Given the description of an element on the screen output the (x, y) to click on. 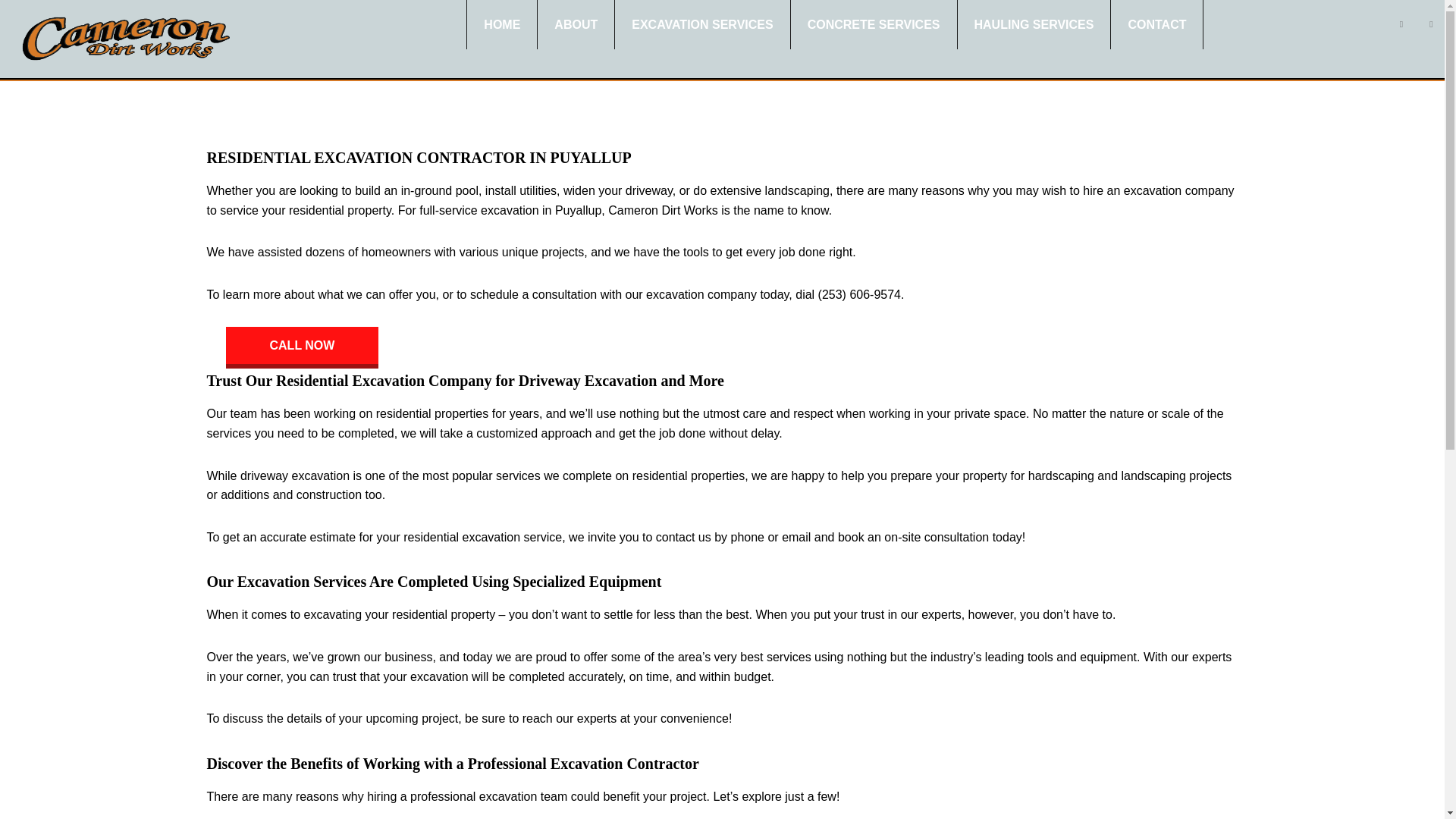
CONTACT (1156, 24)
HAULING SERVICES (1032, 24)
Learn more about Excavation Contractors (523, 796)
CONCRETE SERVICES (873, 24)
EXCAVATION SERVICES (701, 24)
ABOUT (575, 24)
CALL NOW (301, 347)
HOME (502, 24)
excavation team (523, 796)
